Given the description of an element on the screen output the (x, y) to click on. 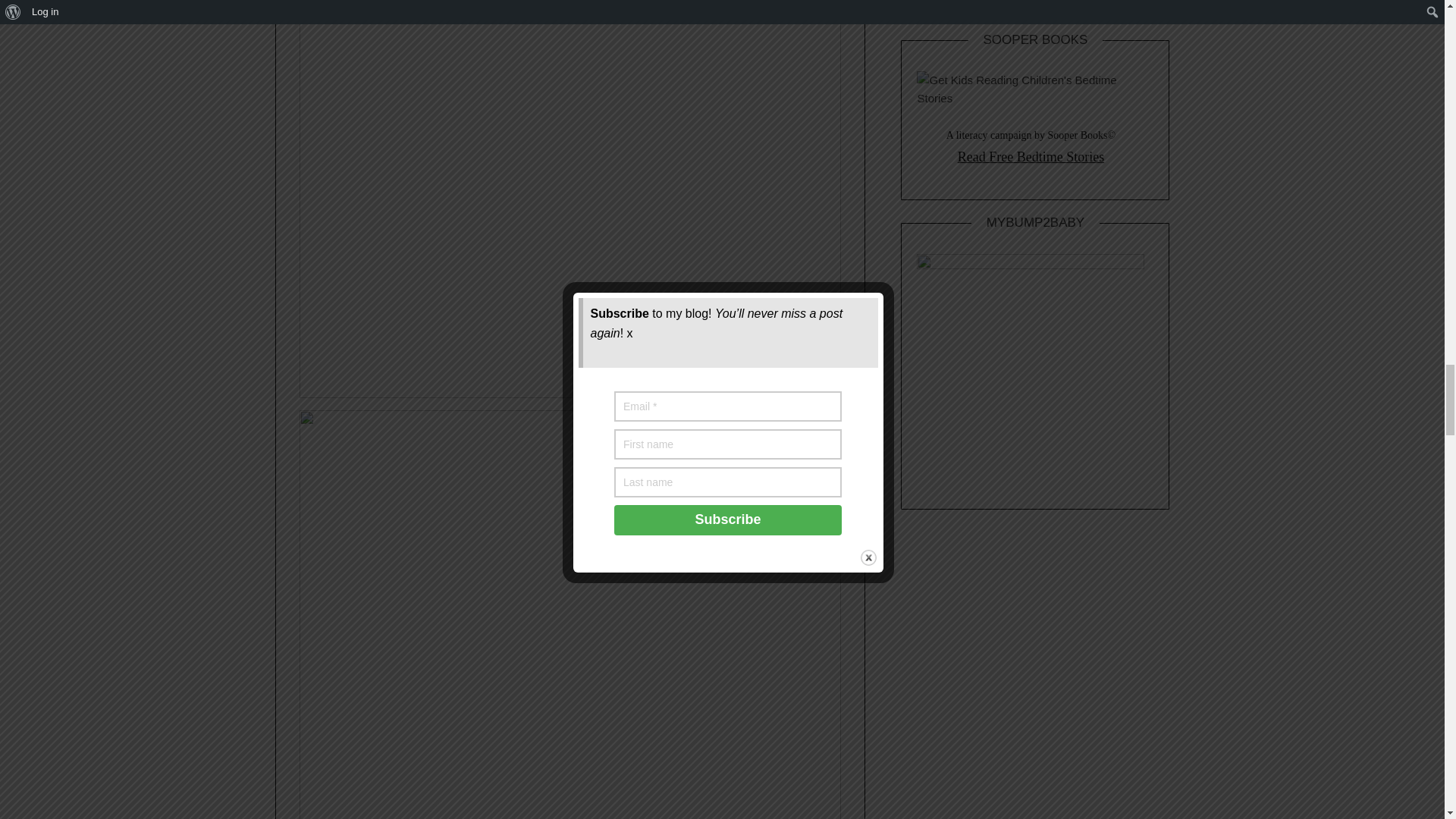
Subscribe (961, 0)
